Given the description of an element on the screen output the (x, y) to click on. 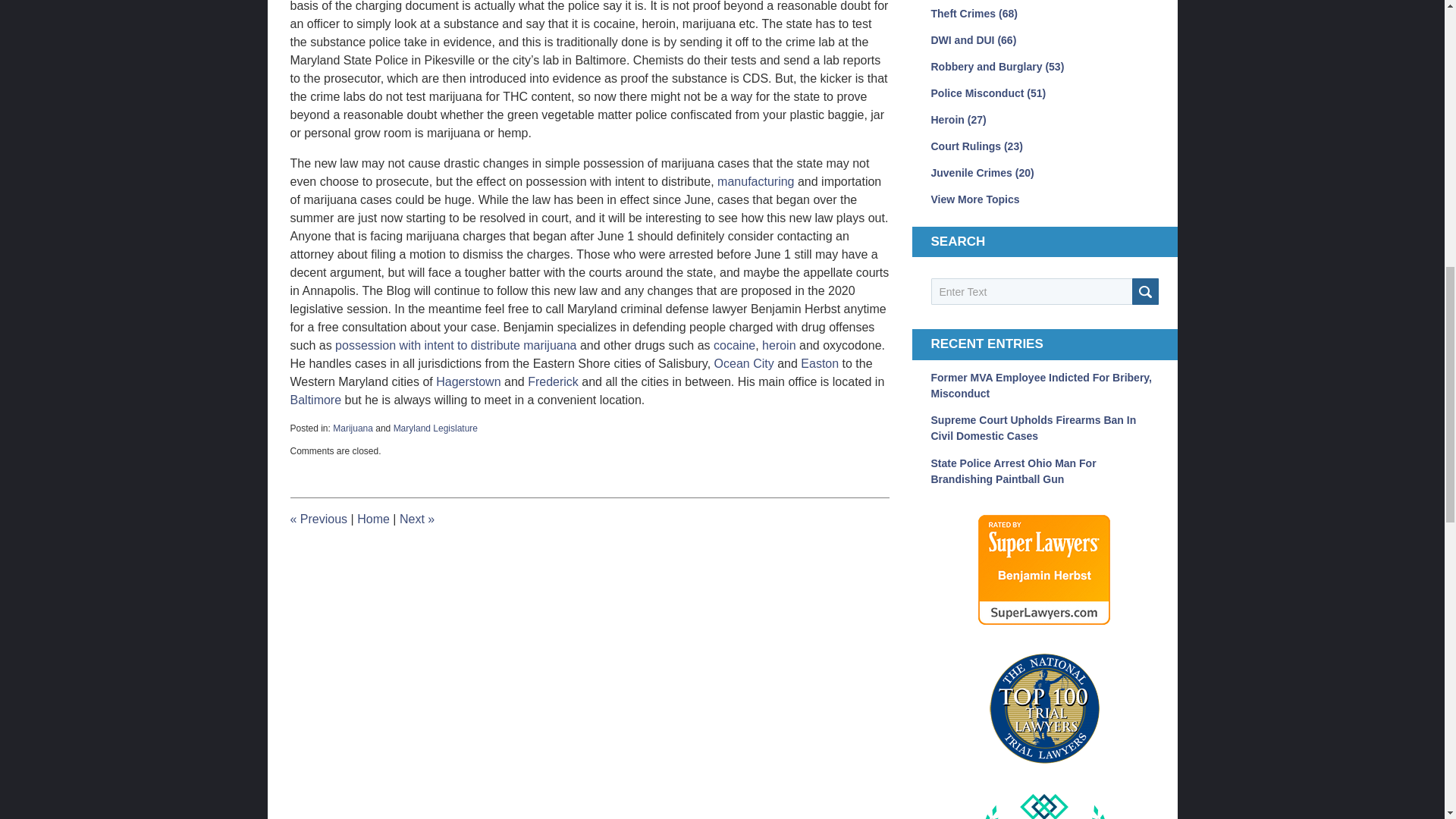
Former Baltimore Mayor Pleads Guilty (415, 518)
cocaine (734, 345)
View all posts in Maryland Legislature (435, 428)
Frederick (552, 381)
manufacturing (755, 181)
Home (373, 518)
Baltimore (314, 399)
Marijuana (352, 428)
Easton (819, 363)
Hagerstown (467, 381)
possession with intent to distribute marijuana (455, 345)
heroin (777, 345)
Maryland Legislature (435, 428)
View all posts in Marijuana (352, 428)
Ocean City (744, 363)
